Given the description of an element on the screen output the (x, y) to click on. 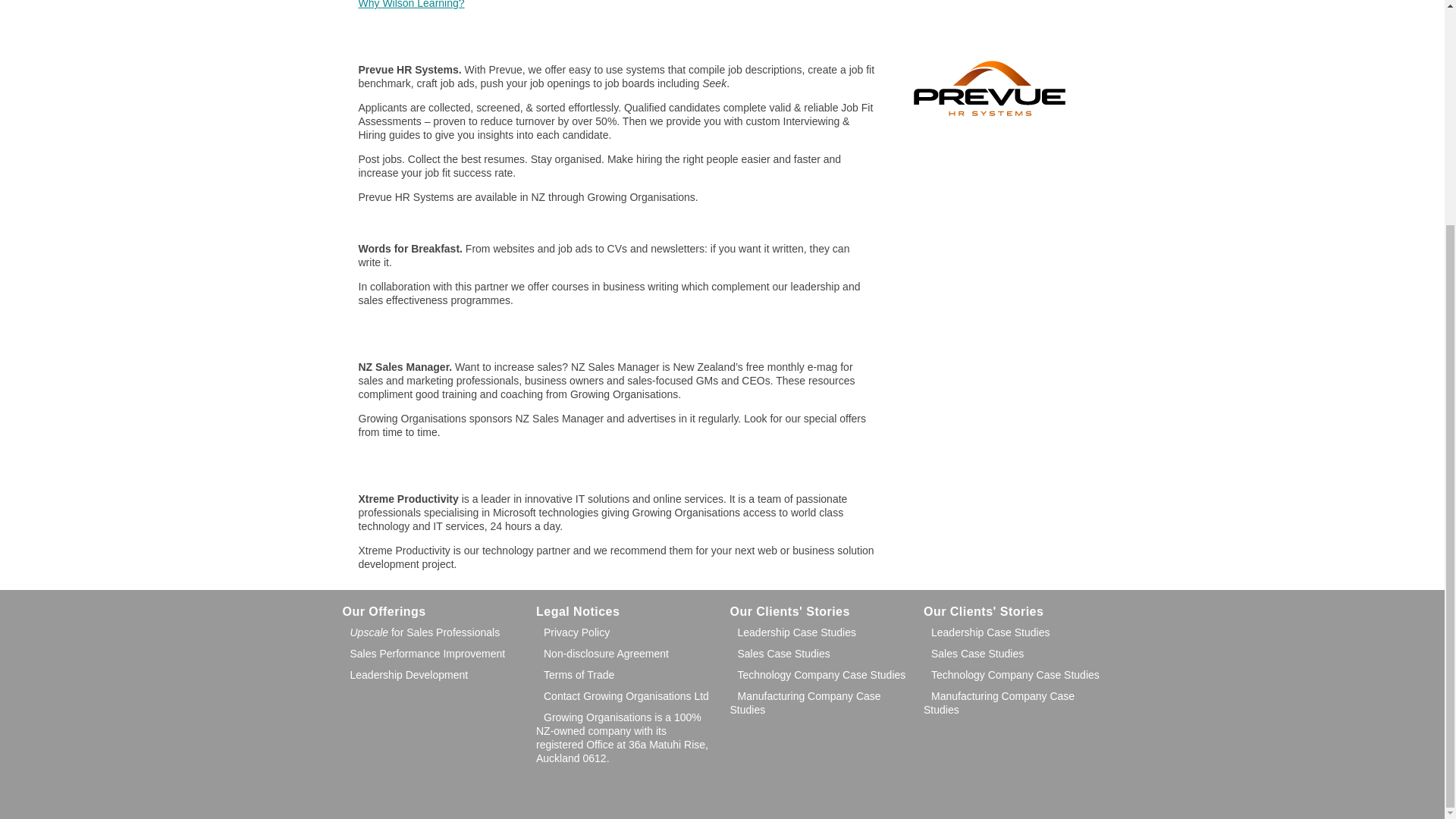
Privacy Policy (572, 632)
Technology Company Case Studies (817, 674)
Leadership Case Studies (792, 632)
Leadership Development (405, 674)
Manufacturing Company Case Studies (804, 702)
Non-disclosure Agreement (601, 653)
Sales Performance Improvement (423, 653)
Terms of Trade (574, 674)
Upscale for Sales Professionals (421, 632)
Sales Case Studies (779, 653)
Why Wilson Learning? (411, 4)
Contact Growing Organisations Ltd (622, 695)
